Given the description of an element on the screen output the (x, y) to click on. 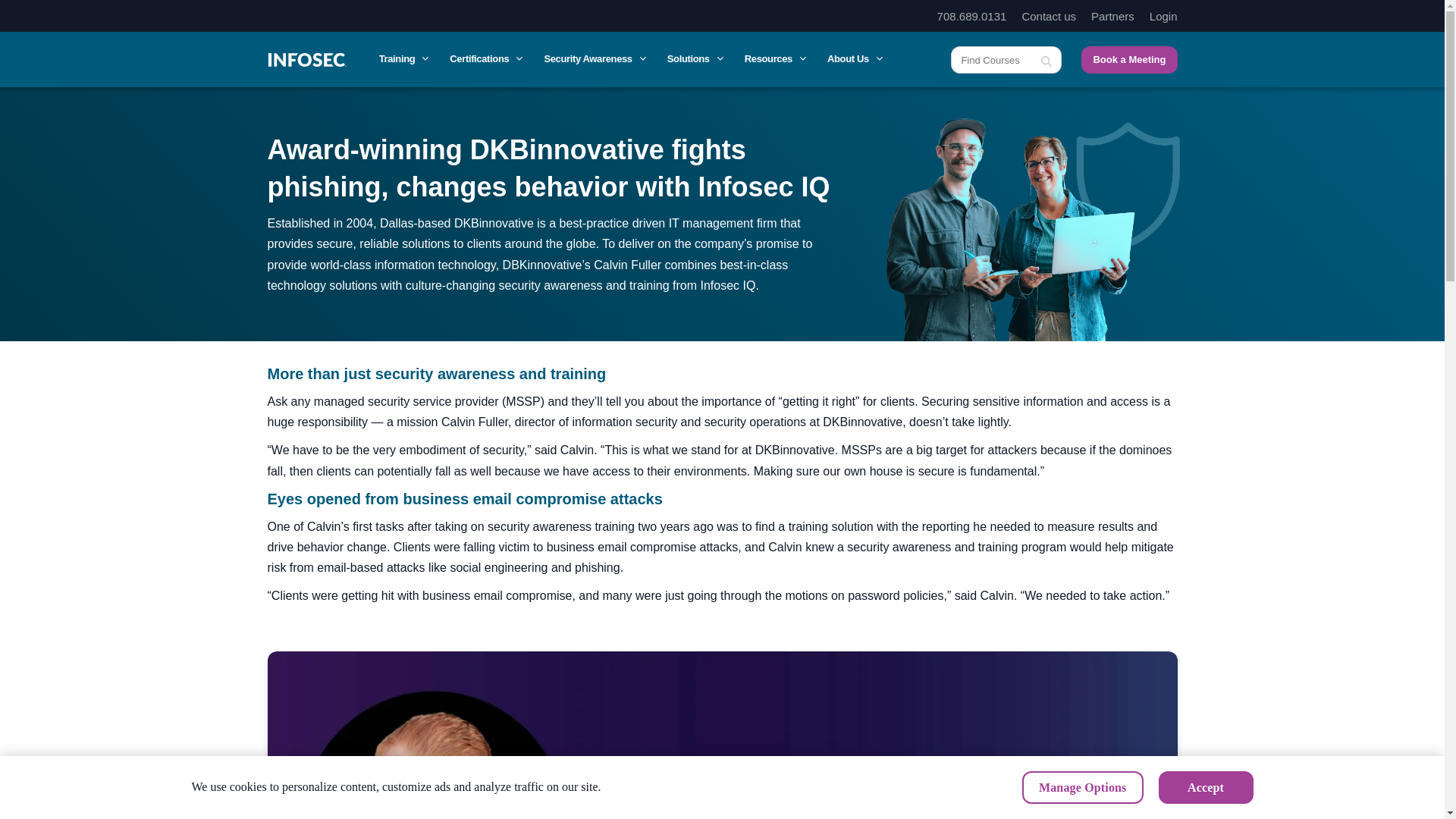
Login (1163, 15)
Partners (1112, 15)
Certifications (484, 59)
Infosec logo (306, 59)
Contact us (1048, 15)
Training (402, 59)
Book a Meeting (1128, 59)
708.689.0131 (972, 15)
Login (1163, 15)
708.689.0131 (972, 15)
